Given the description of an element on the screen output the (x, y) to click on. 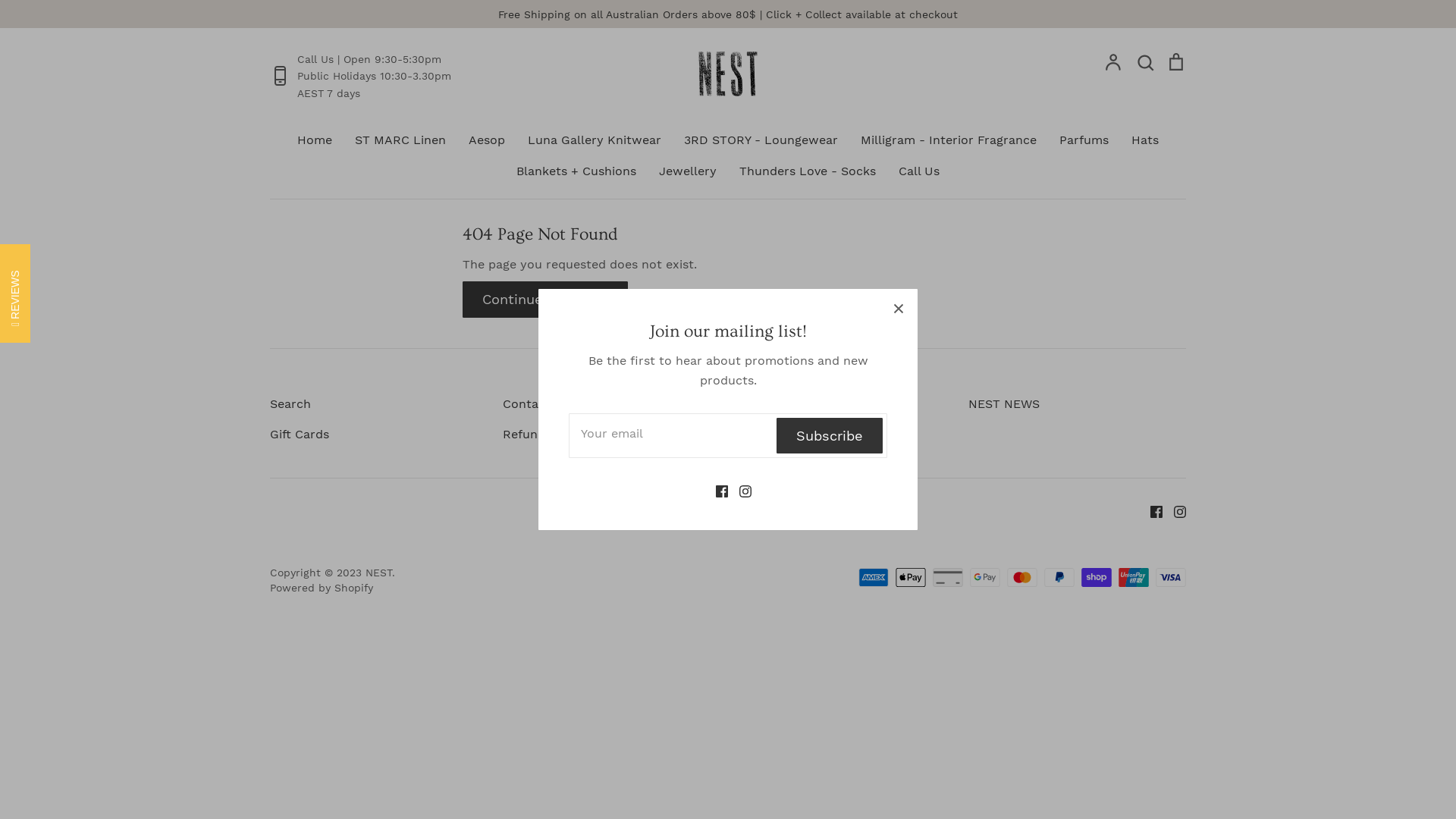
Jewellery Element type: text (687, 170)
Luna Gallery Knitwear Element type: text (594, 139)
Call Us Element type: text (918, 170)
Hats Element type: text (1144, 139)
NEST NEWS Element type: text (1003, 404)
Milligram - Interior Fragrance Element type: text (948, 139)
Privacy Policy Element type: text (776, 434)
NEST Element type: text (378, 572)
Contact Us Element type: text (535, 404)
Blankets + Cushions Element type: text (576, 170)
Parfums Element type: text (1083, 139)
Shipping Info Element type: text (774, 404)
3RD STORY - Loungewear Element type: text (760, 139)
Home Element type: text (314, 139)
Subscribe Element type: text (829, 435)
Gift Cards Element type: text (299, 434)
Cart Element type: text (1176, 61)
Refund Policy Element type: text (543, 434)
ST MARC Linen Element type: text (399, 139)
Thunders Love - Socks Element type: text (807, 170)
Search Element type: text (1144, 61)
Aesop Element type: text (486, 139)
Search Element type: text (289, 404)
Powered by Shopify Element type: text (321, 587)
Continue shopping Element type: text (544, 298)
Account Element type: text (1113, 61)
